Given the description of an element on the screen output the (x, y) to click on. 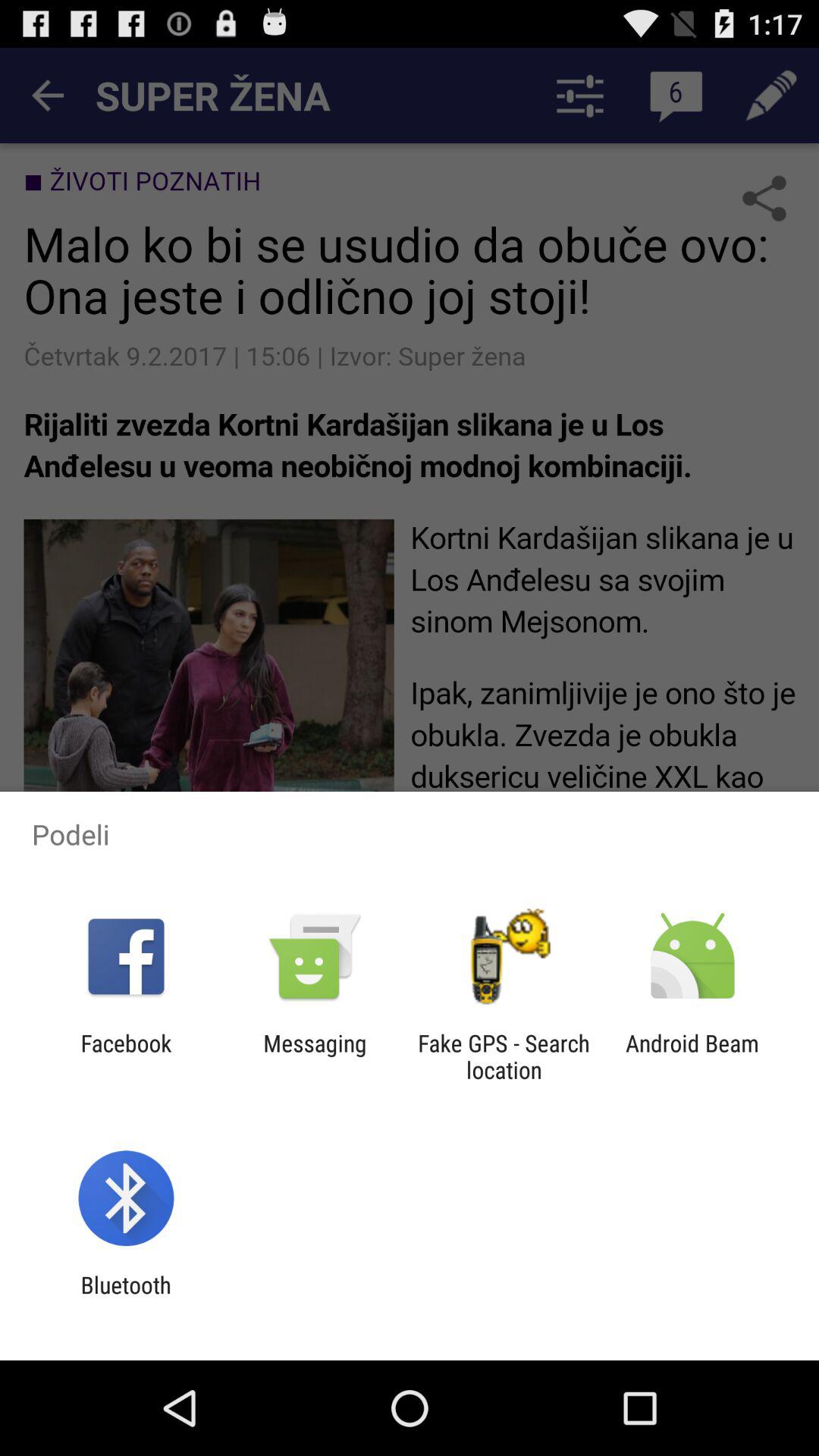
jump until fake gps search icon (503, 1056)
